Given the description of an element on the screen output the (x, y) to click on. 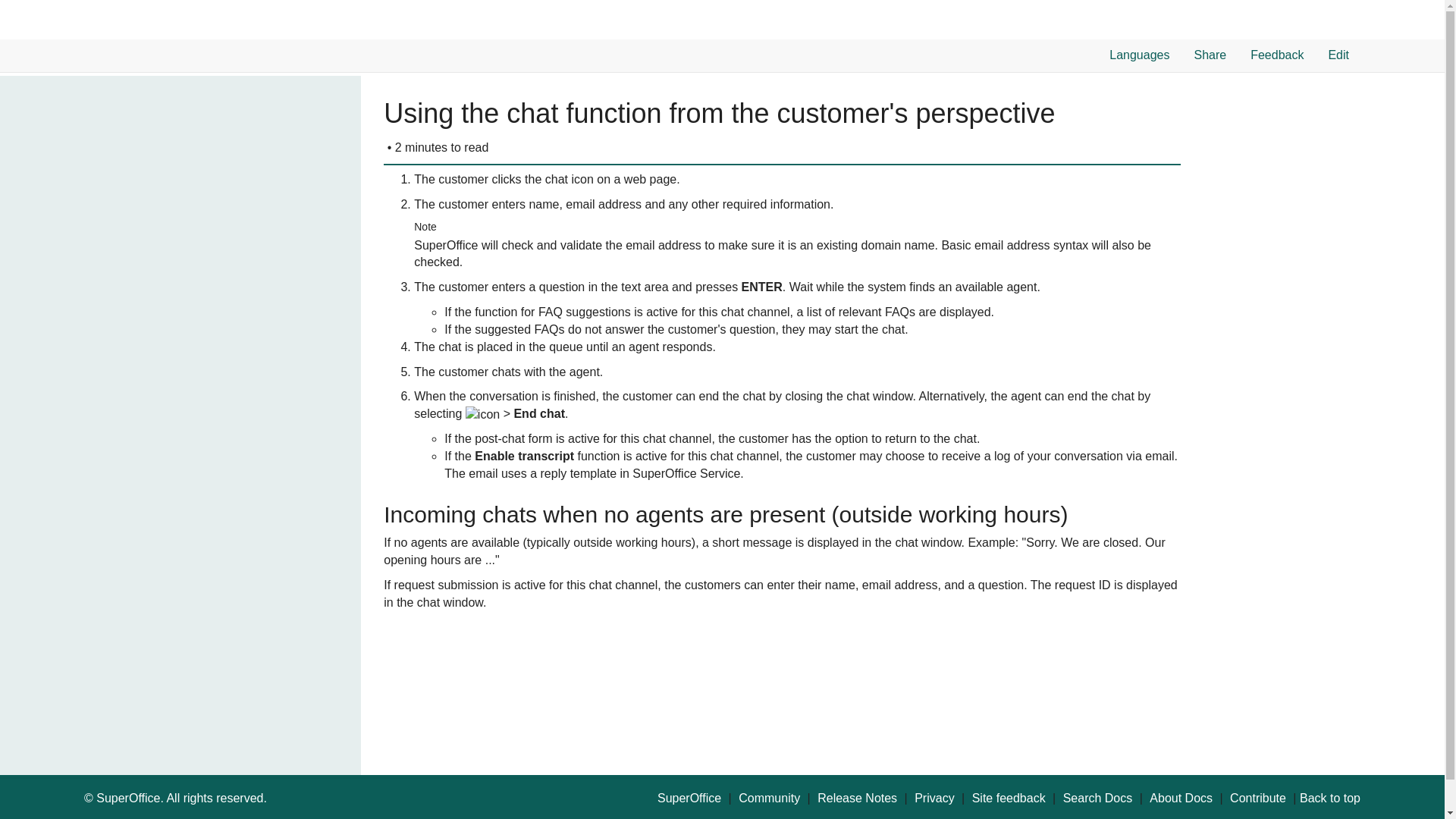
Site feedback (1008, 798)
Languages (1138, 55)
Feedback (1276, 55)
Search Docs (1097, 798)
Contribute (1257, 798)
Edit (1337, 55)
Share (1209, 55)
SuperOffice (689, 798)
Back to top (1329, 798)
Privacy (933, 798)
